Given the description of an element on the screen output the (x, y) to click on. 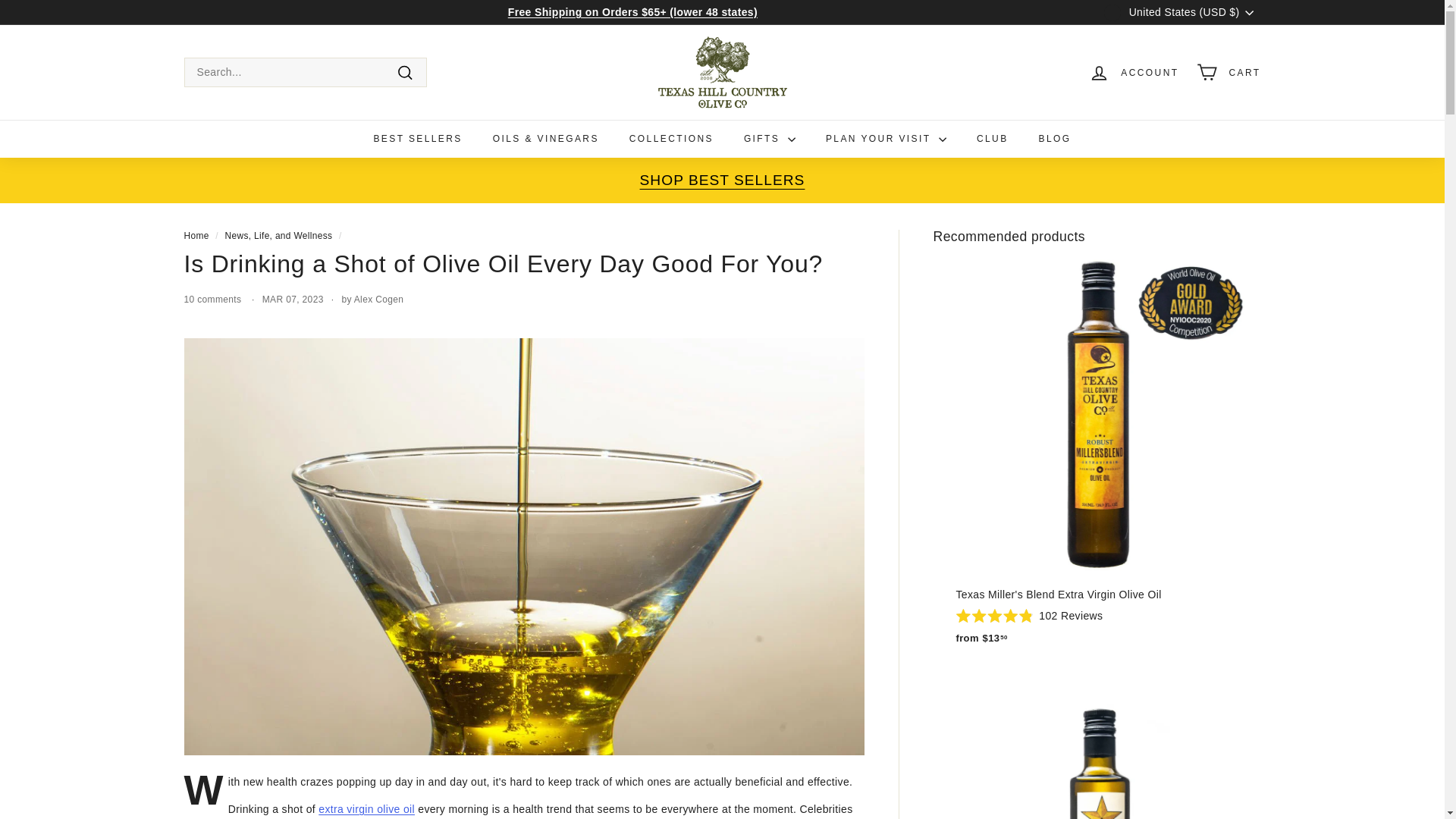
Back to the frontpage (195, 235)
